Given the description of an element on the screen output the (x, y) to click on. 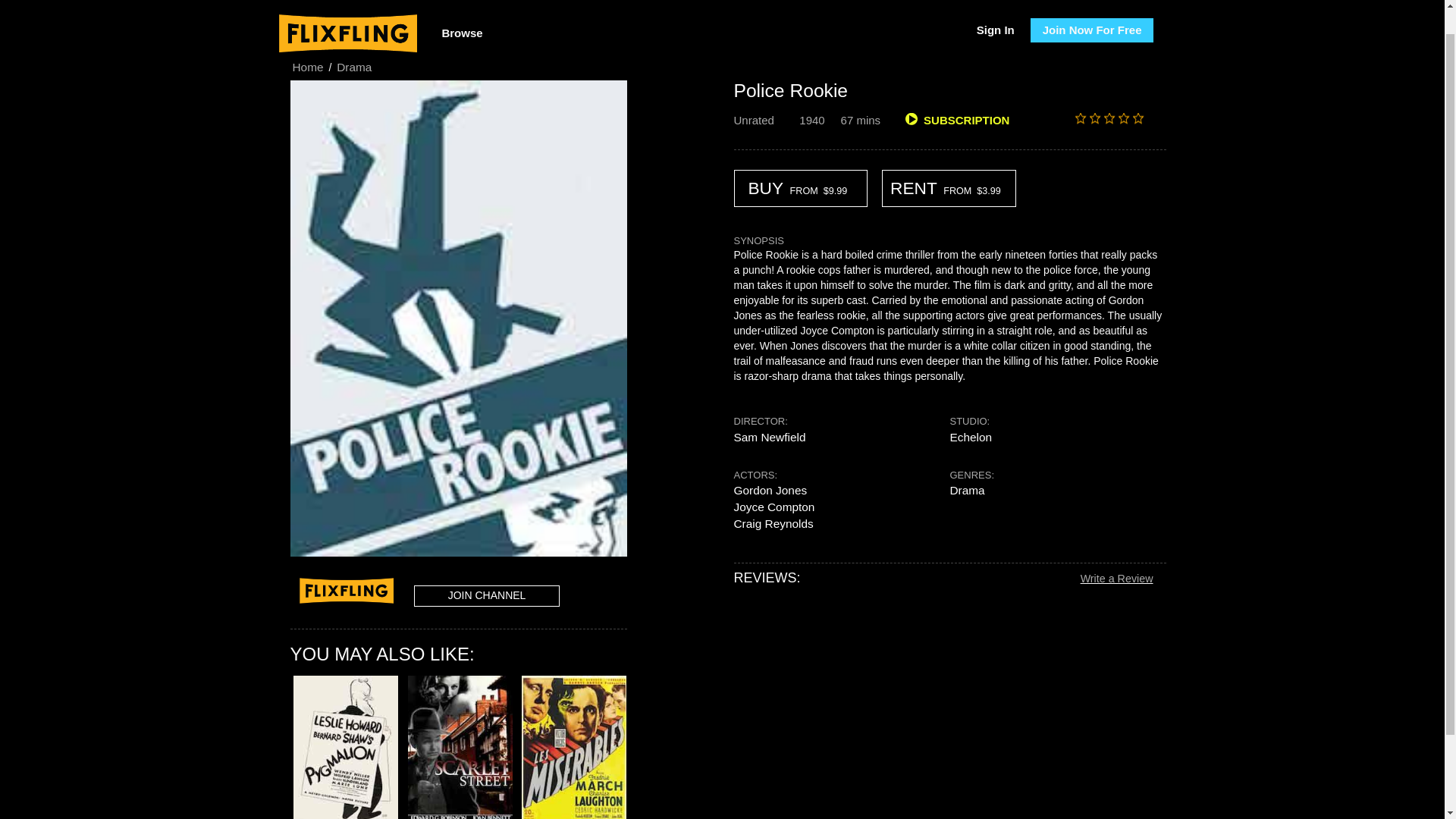
Sign In (994, 6)
Drama (354, 67)
Joyce Compton (774, 506)
Browse (461, 9)
Home (306, 67)
Police Rookie (790, 90)
Echelon (970, 436)
Drama (966, 490)
Sam Newfield (769, 436)
Craig Reynolds (773, 523)
JOIN CHANNEL (486, 595)
Join Now For Free (1092, 7)
Gordon Jones (770, 490)
Write a Review (1116, 578)
